Given the description of an element on the screen output the (x, y) to click on. 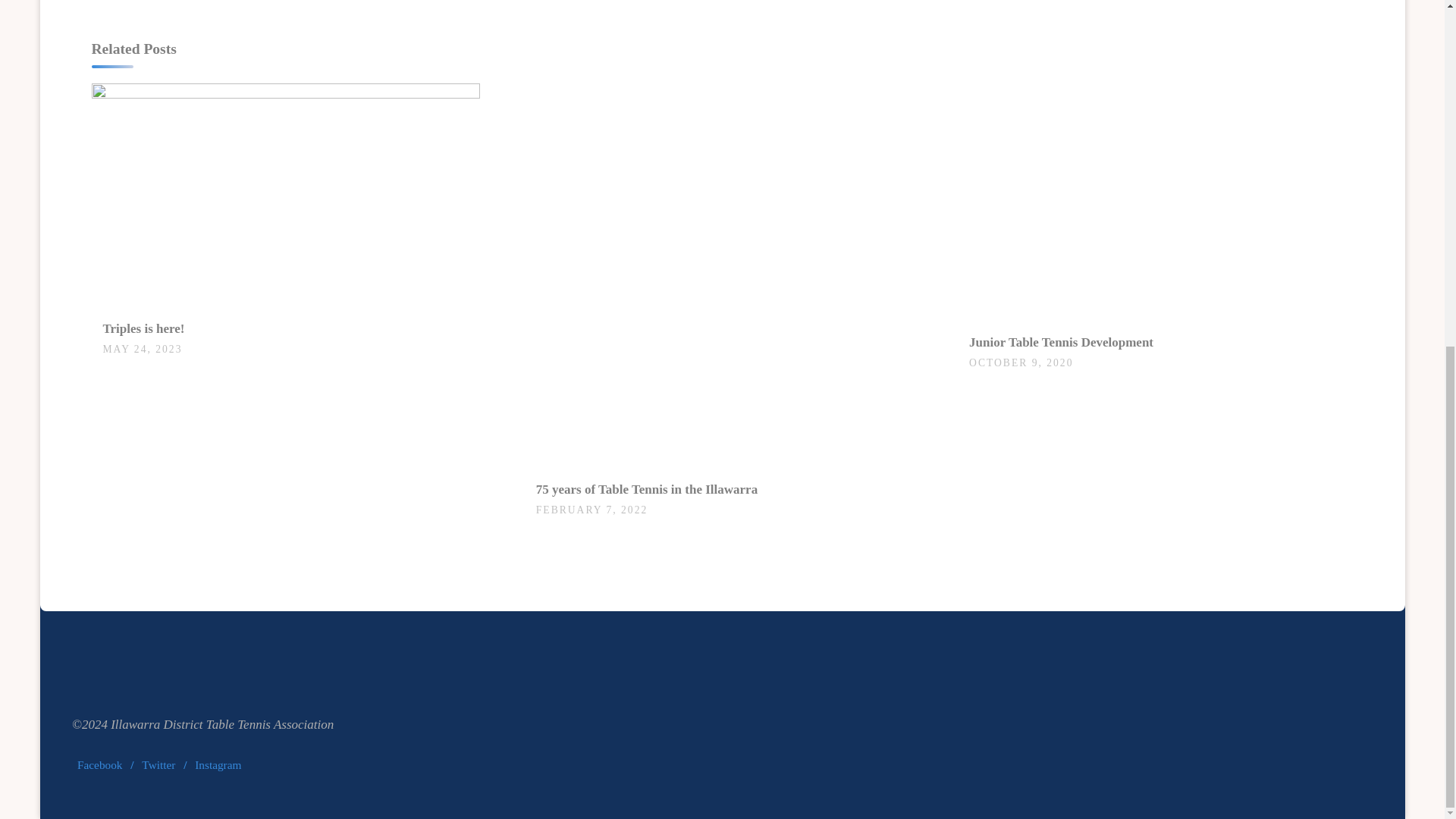
Triples is here! (143, 328)
75 years of Table Tennis in the Illawarra (718, 275)
Triples is here! (284, 195)
Junior Table Tennis Development (1078, 201)
75 years of Table Tennis in the Illawarra (646, 489)
